Given the description of an element on the screen output the (x, y) to click on. 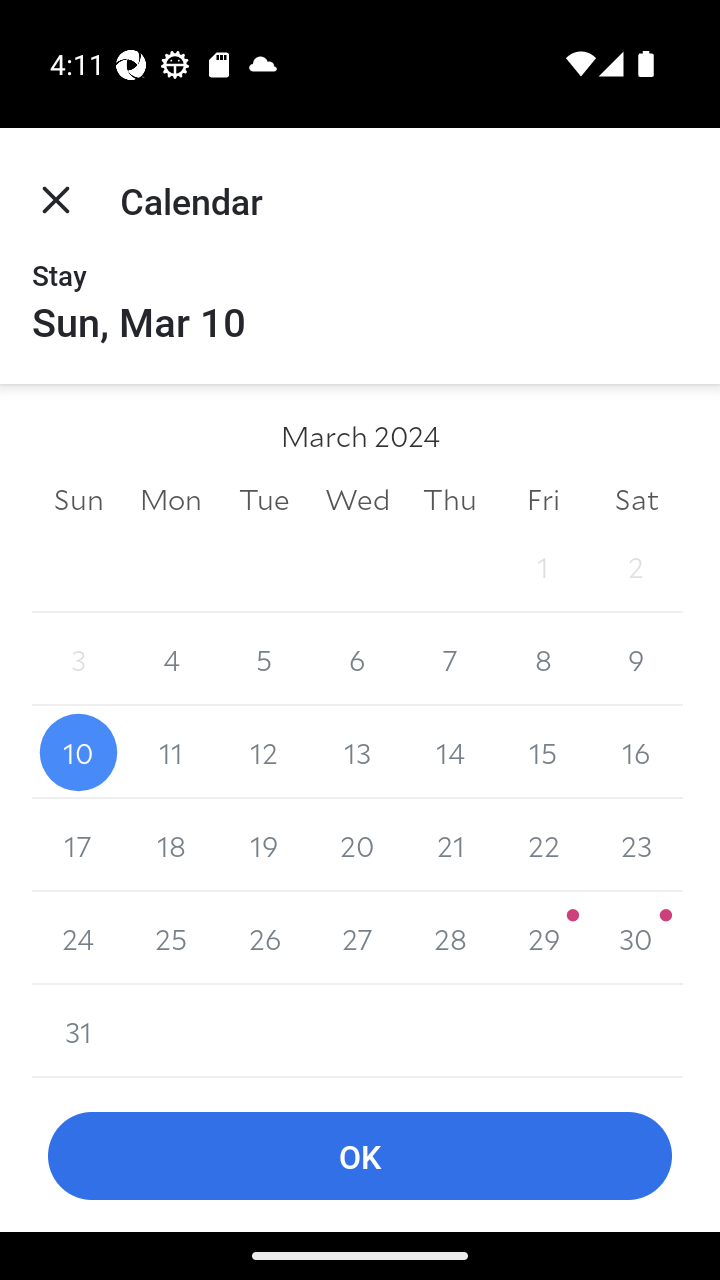
Sun (78, 498)
Mon (171, 498)
Tue (264, 498)
Wed (357, 498)
Thu (449, 498)
Fri (542, 498)
Sat (636, 498)
1 1 March 2024 (542, 566)
2 2 March 2024 (636, 566)
3 3 March 2024 (78, 659)
4 4 March 2024 (171, 659)
5 5 March 2024 (264, 659)
6 6 March 2024 (357, 659)
7 7 March 2024 (449, 659)
8 8 March 2024 (542, 659)
9 9 March 2024 (636, 659)
10 10 March 2024 (78, 752)
11 11 March 2024 (171, 752)
12 12 March 2024 (264, 752)
13 13 March 2024 (357, 752)
14 14 March 2024 (449, 752)
15 15 March 2024 (542, 752)
16 16 March 2024 (636, 752)
17 17 March 2024 (78, 845)
18 18 March 2024 (171, 845)
19 19 March 2024 (264, 845)
20 20 March 2024 (357, 845)
21 21 March 2024 (449, 845)
22 22 March 2024 (542, 845)
23 23 March 2024 (636, 845)
24 24 March 2024 (78, 938)
25 25 March 2024 (171, 938)
26 26 March 2024 (264, 938)
27 27 March 2024 (357, 938)
28 28 March 2024 (449, 938)
29 29 March 2024 (542, 938)
30 30 March 2024 (636, 938)
31 31 March 2024 (78, 1031)
OK (359, 1156)
